Given the description of an element on the screen output the (x, y) to click on. 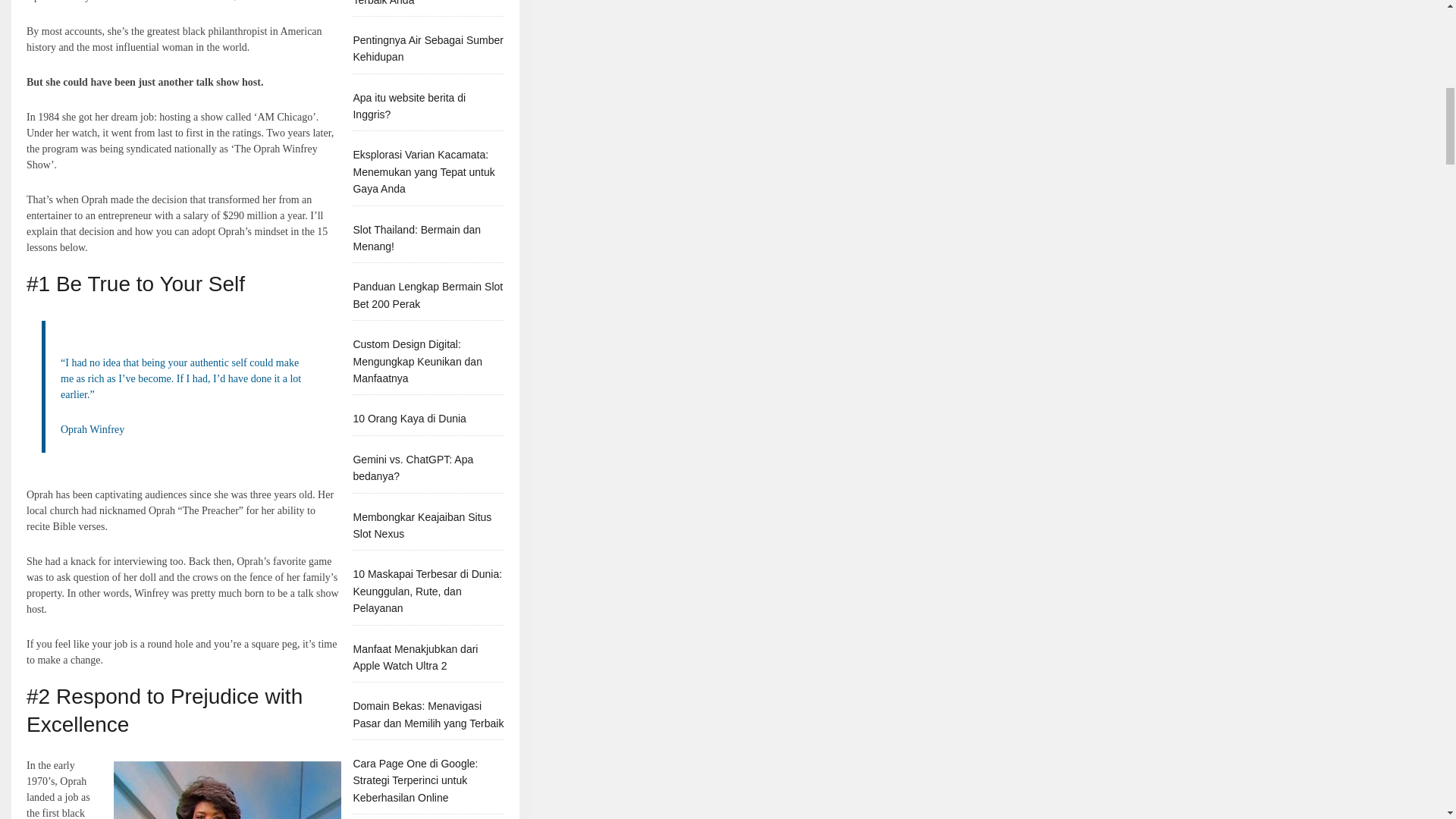
10 Orang Kaya di Dunia (408, 418)
Pentingnya Air Sebagai Sumber Kehidupan (427, 48)
Gemini vs. ChatGPT: Apa bedanya? (412, 467)
Custom Design Digital: Mengungkap Keunikan dan Manfaatnya (416, 361)
Manfaat Menakjubkan dari Apple Watch Ultra 2 (414, 656)
Slot Minimal Depo: Pilihan Terbaik Anda (414, 2)
Membongkar Keajaiban Situs Slot Nexus (422, 525)
Slot Thailand: Bermain dan Menang! (416, 237)
Apa itu website berita di Inggris? (408, 105)
Domain Bekas: Menavigasi Pasar dan Memilih yang Terbaik (427, 714)
Panduan Lengkap Bermain Slot Bet 200 Perak (427, 294)
